Given the description of an element on the screen output the (x, y) to click on. 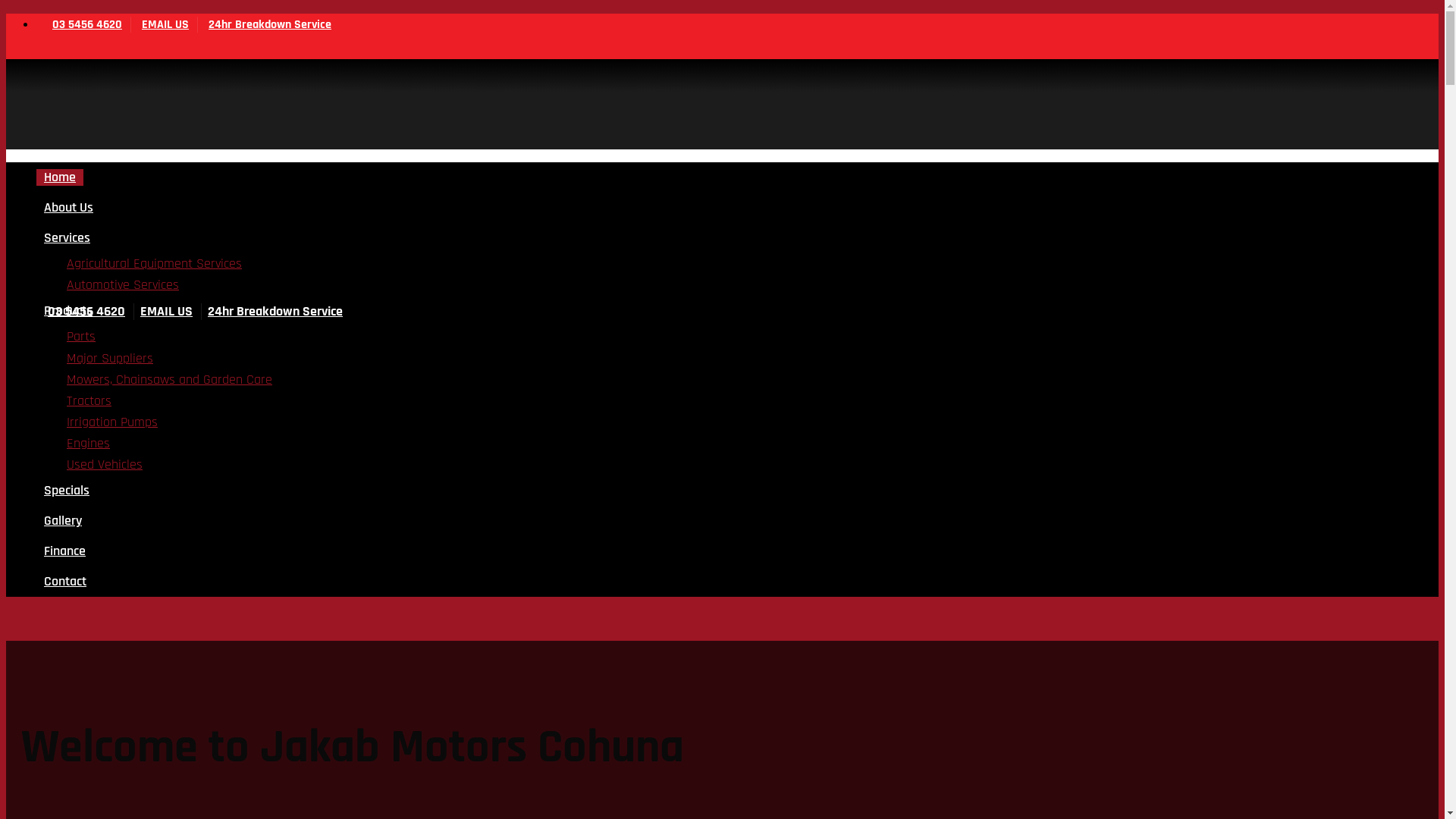
Parts Element type: text (80, 336)
Services Element type: text (66, 237)
Contact Element type: text (65, 581)
24hr Breakdown Service Element type: text (269, 311)
Jakab Motors Cohuna - Jakab Motors Cohuna Element type: hover (133, 194)
Tractors Element type: text (88, 400)
Gallery Element type: text (62, 520)
Products Element type: text (68, 310)
Mowers, Chainsaws and Garden Care Element type: text (169, 379)
Engines Element type: text (87, 443)
EMAIL US Element type: text (160, 311)
Agricultural Equipment Services Element type: text (153, 263)
03 5456 4620 Element type: text (79, 24)
EMAIL US Element type: text (156, 24)
Major Suppliers Element type: text (109, 358)
Home Element type: text (59, 177)
03 5456 4620 Element type: text (80, 311)
24hr Breakdown Service Element type: text (261, 24)
Skip to content Element type: text (5, 12)
Automotive Services Element type: text (122, 284)
Specials Element type: text (66, 490)
Finance Element type: text (64, 550)
Irrigation Pumps Element type: text (111, 422)
About Us Element type: text (68, 207)
Used Vehicles Element type: text (104, 464)
